Given the description of an element on the screen output the (x, y) to click on. 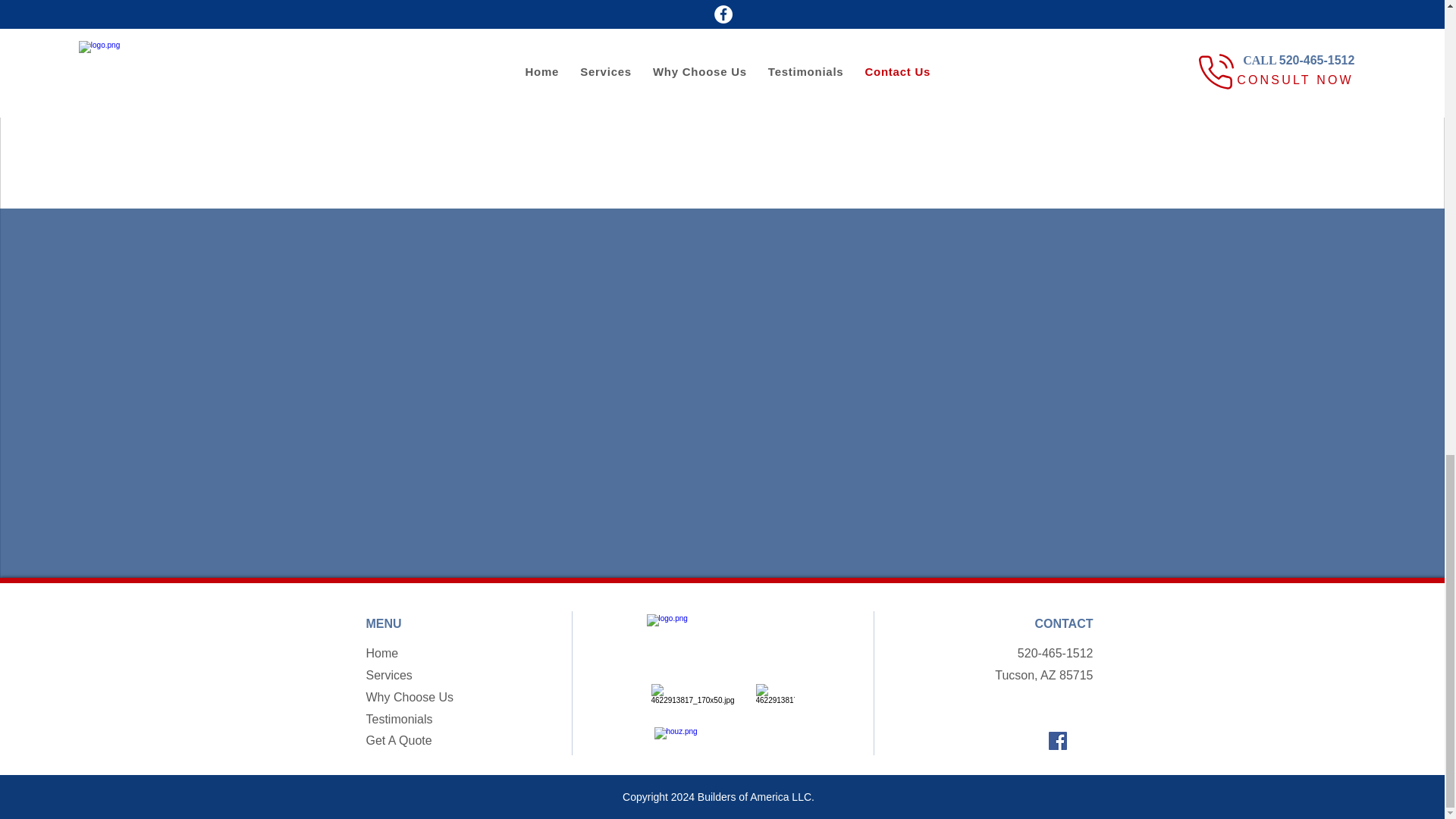
Submit (561, 89)
Get A Quote (397, 739)
Services (388, 675)
Testimonials (398, 718)
Why Choose Us (408, 697)
Home (381, 653)
